Given the description of an element on the screen output the (x, y) to click on. 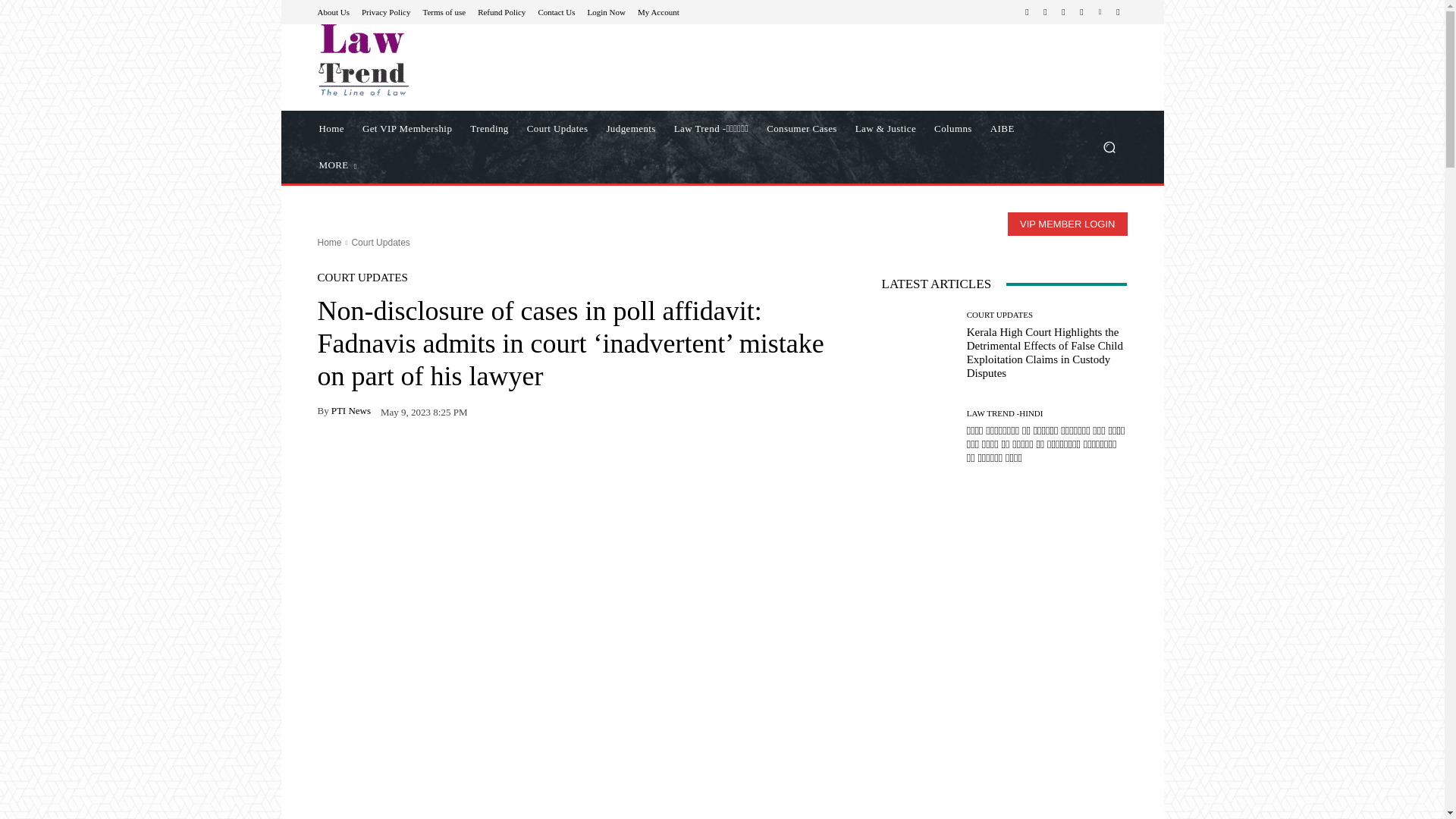
Law Trend- Legal News Website (425, 59)
About Us (333, 11)
Terms of use (443, 11)
Contact Us (556, 11)
Privacy Policy (385, 11)
Law Trend- Legal News Website (362, 59)
Twitter (1080, 12)
Login Now (607, 11)
Youtube (1117, 12)
View all posts in Court Updates (379, 242)
Telegram (1062, 12)
My Account (658, 11)
Vimeo (1099, 12)
VIP MEMBER LOGIN (1066, 223)
Instagram (1044, 12)
